Given the description of an element on the screen output the (x, y) to click on. 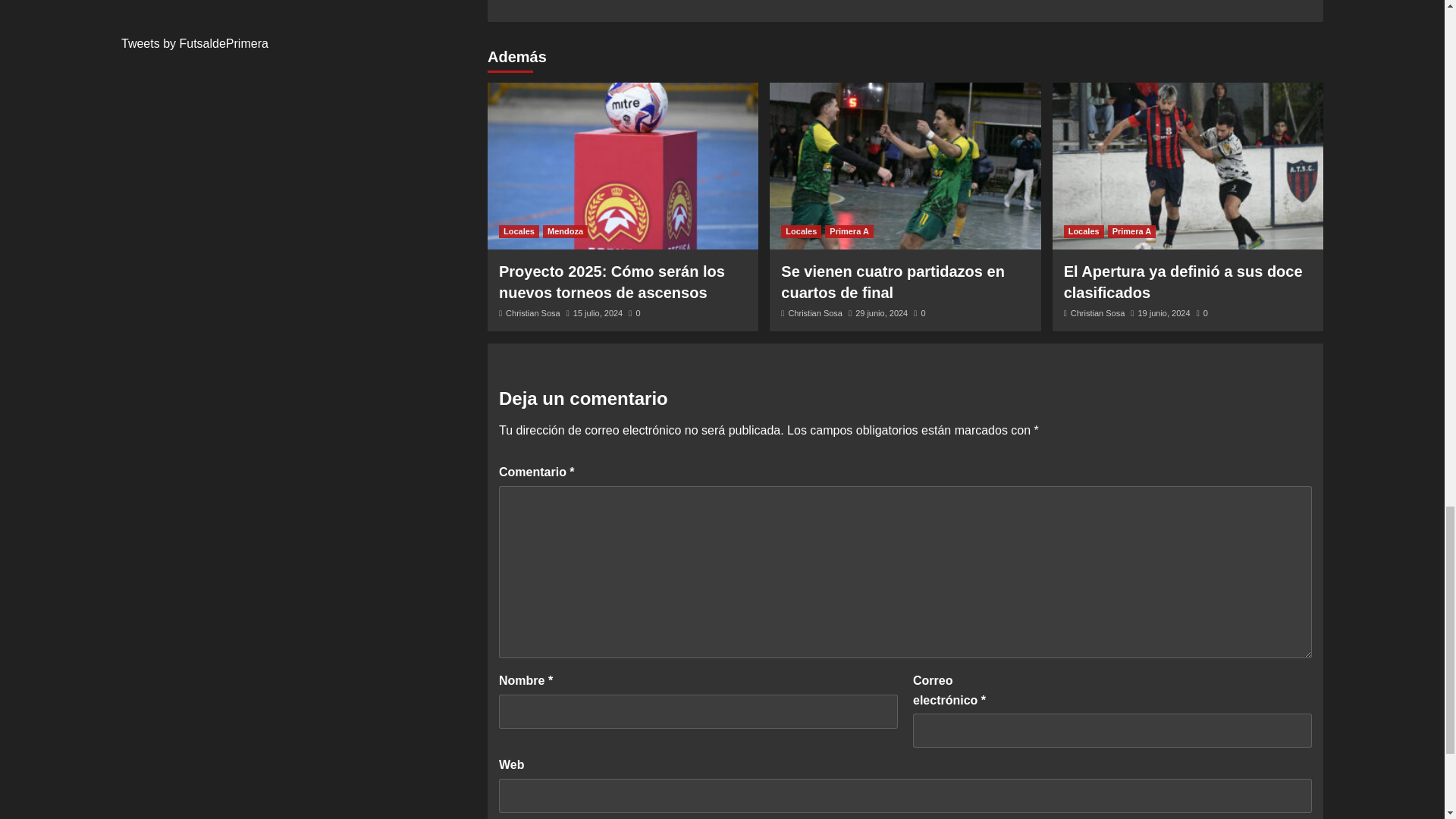
Christian Sosa (815, 312)
Locales (1083, 231)
Mendoza (565, 231)
Se vienen cuatro partidazos en cuartos de final (892, 281)
29 junio, 2024 (881, 312)
Locales (532, 312)
Locales (800, 231)
15 julio, 2024 (518, 231)
